Given the description of an element on the screen output the (x, y) to click on. 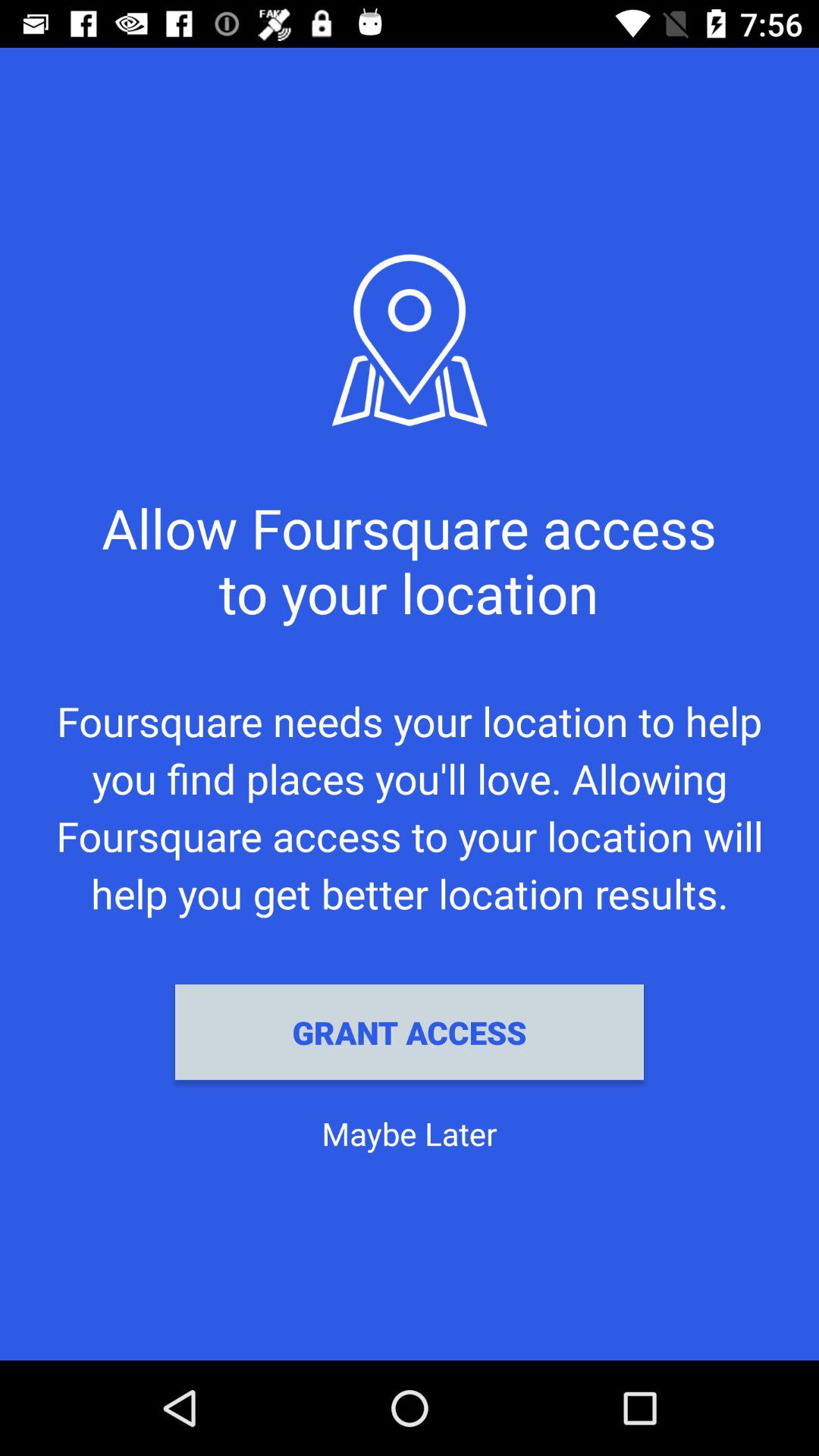
press the maybe later item (409, 1133)
